Given the description of an element on the screen output the (x, y) to click on. 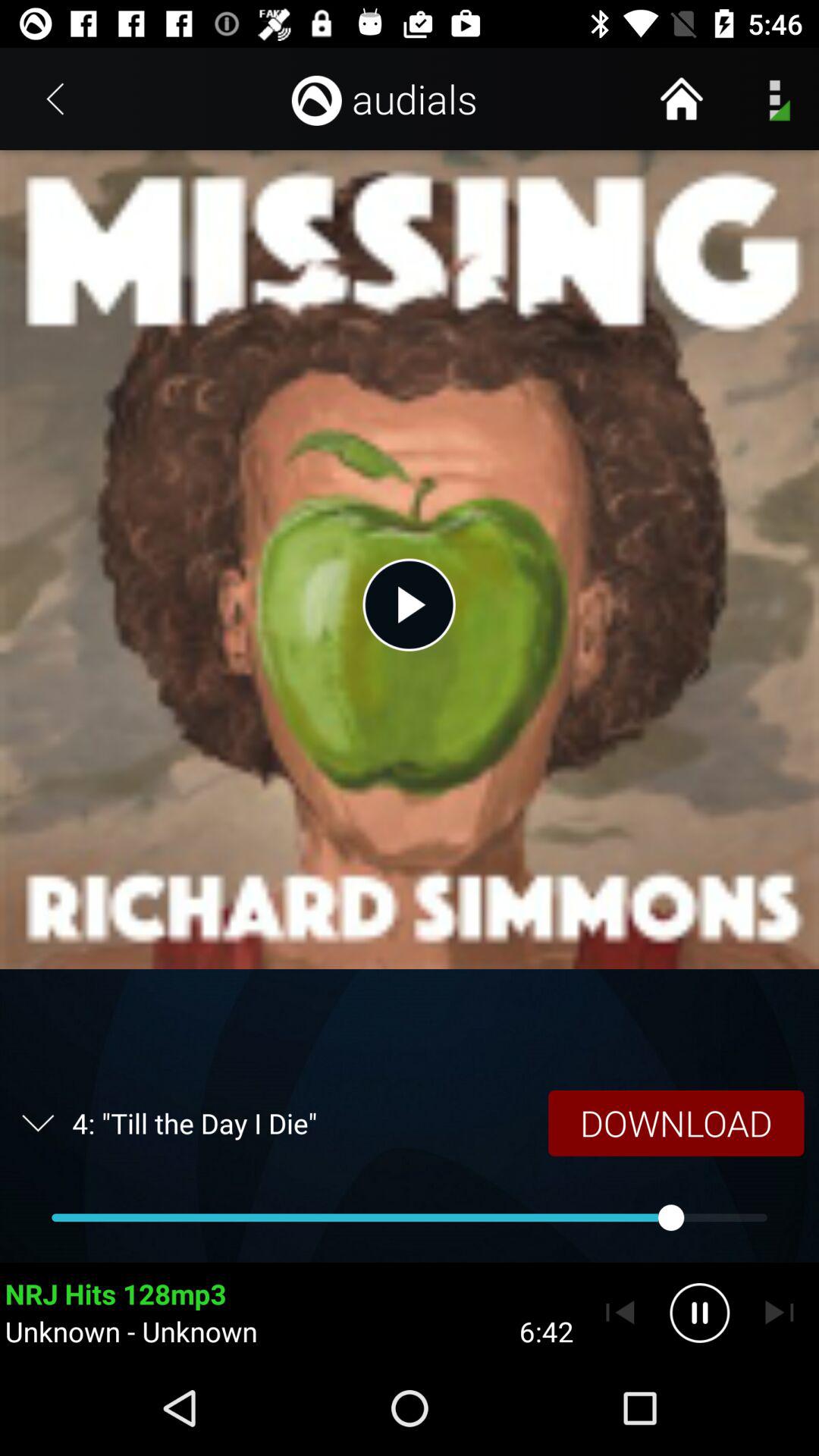
go to app home page (681, 98)
